Given the description of an element on the screen output the (x, y) to click on. 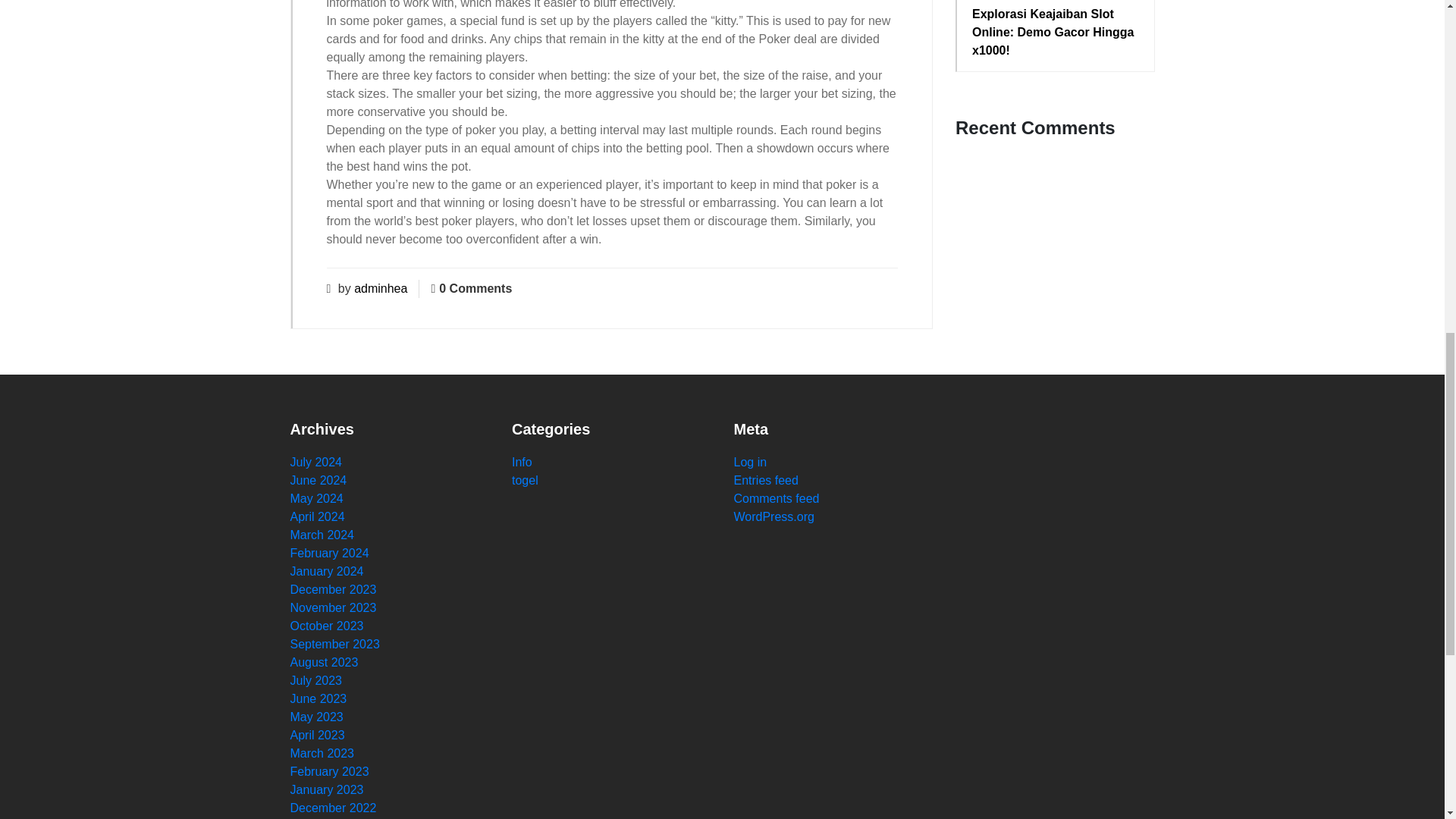
Explorasi Keajaiban Slot Online: Demo Gacor Hingga x1000! (1055, 31)
February 2023 (328, 771)
May 2024 (315, 498)
June 2023 (317, 698)
December 2022 (332, 807)
July 2023 (315, 680)
January 2024 (325, 571)
February 2024 (328, 553)
October 2023 (325, 625)
August 2023 (323, 662)
April 2023 (316, 735)
March 2023 (321, 753)
September 2023 (333, 644)
April 2024 (316, 516)
adminhea (380, 287)
